Given the description of an element on the screen output the (x, y) to click on. 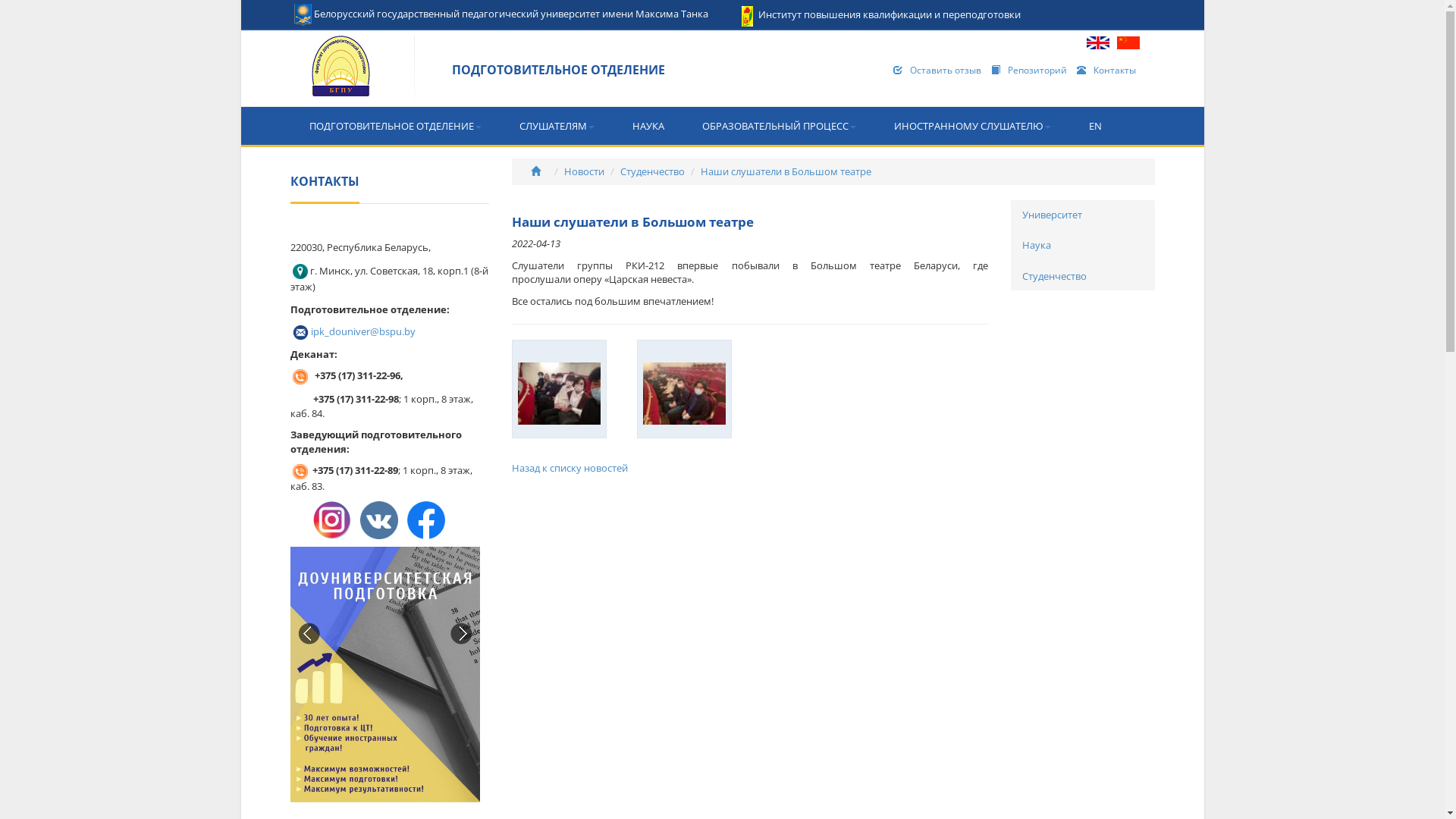
EN Element type: text (1094, 125)
ipk_douniver@bspu.by Element type: text (362, 331)
